Given the description of an element on the screen output the (x, y) to click on. 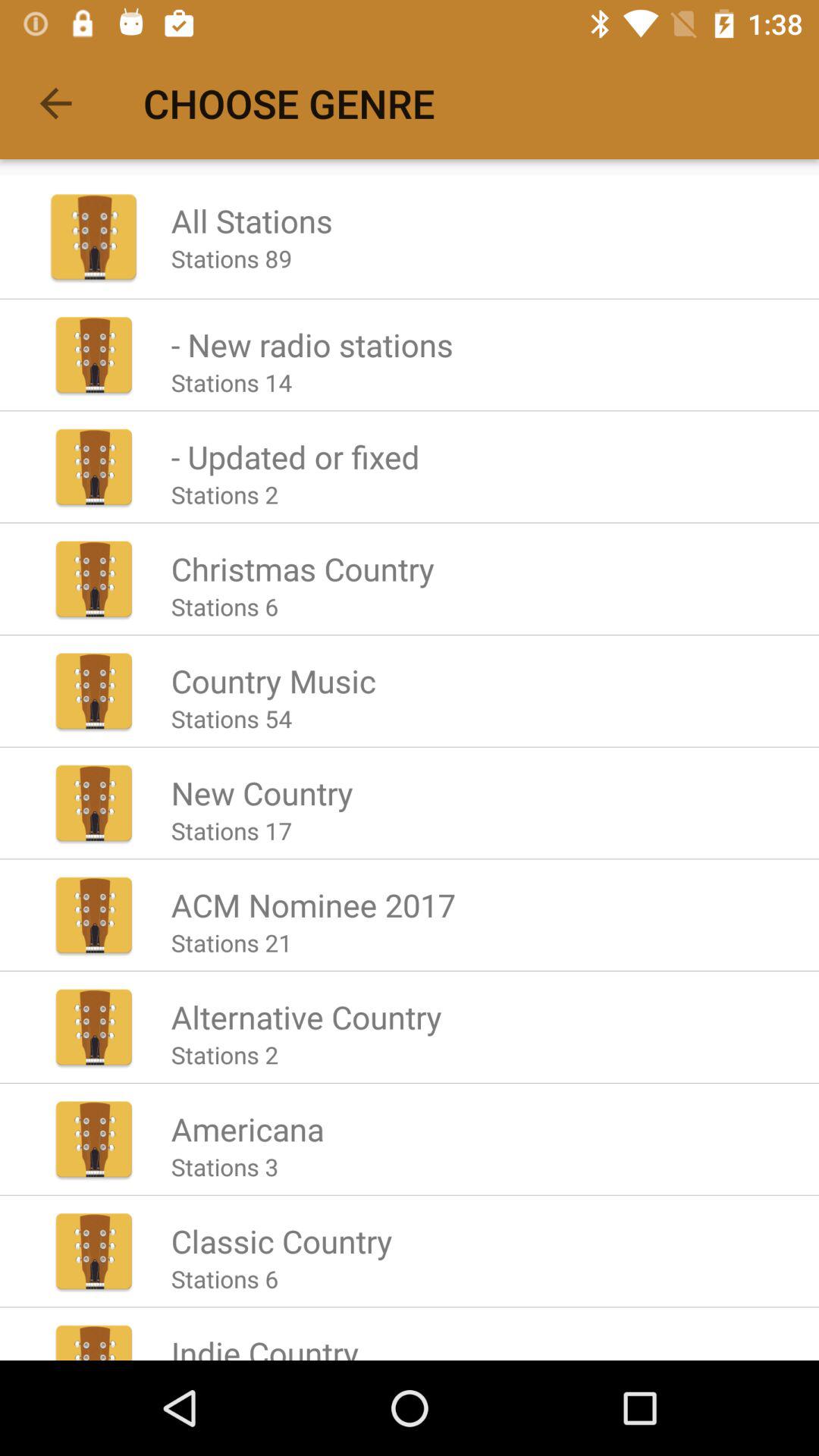
choose the icon above the - updated or fixed (231, 382)
